Given the description of an element on the screen output the (x, y) to click on. 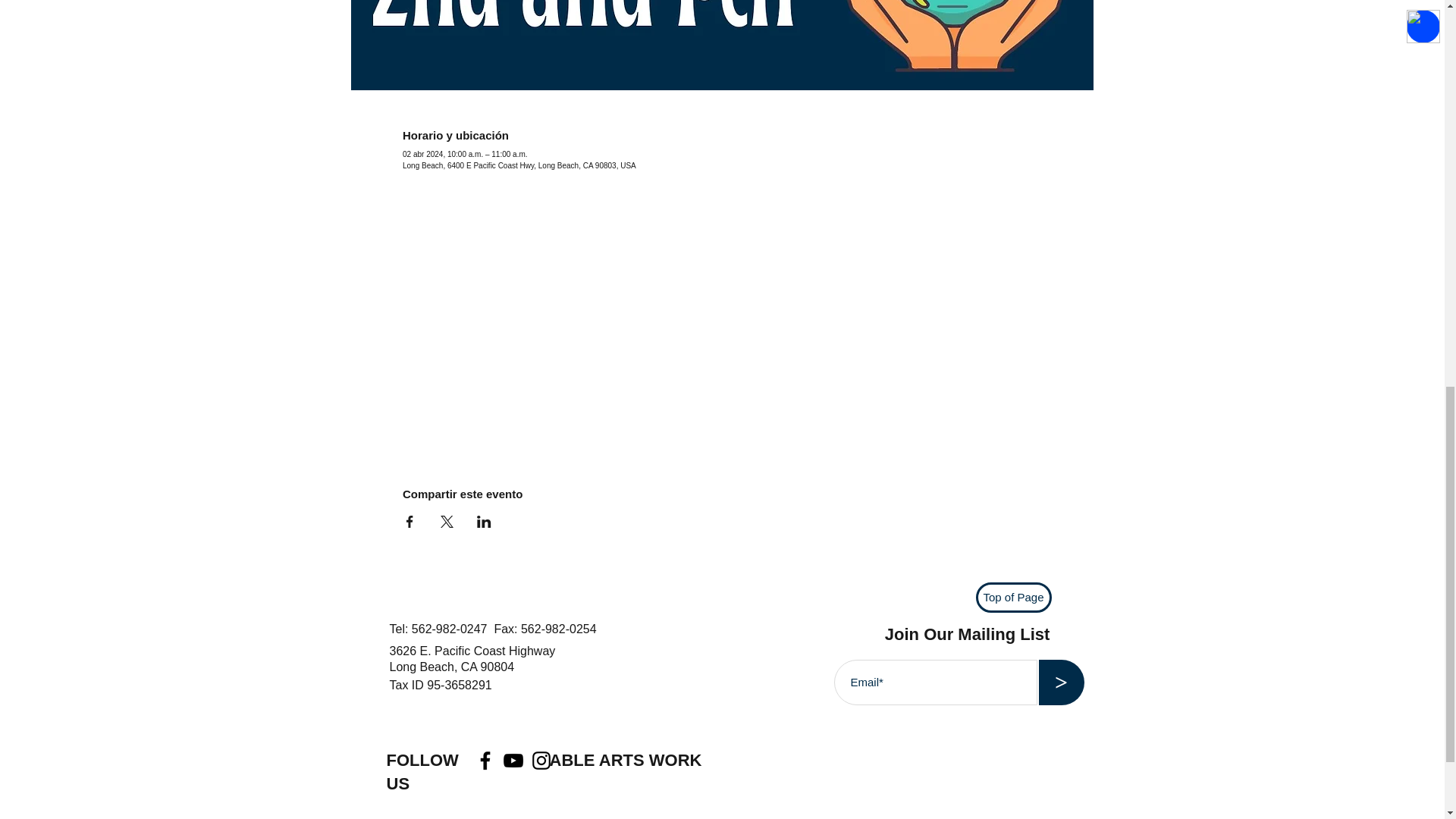
ABLE ARTS WORK (625, 760)
Top of Page (1013, 597)
Join Our Mailing List  (969, 633)
